Given the description of an element on the screen output the (x, y) to click on. 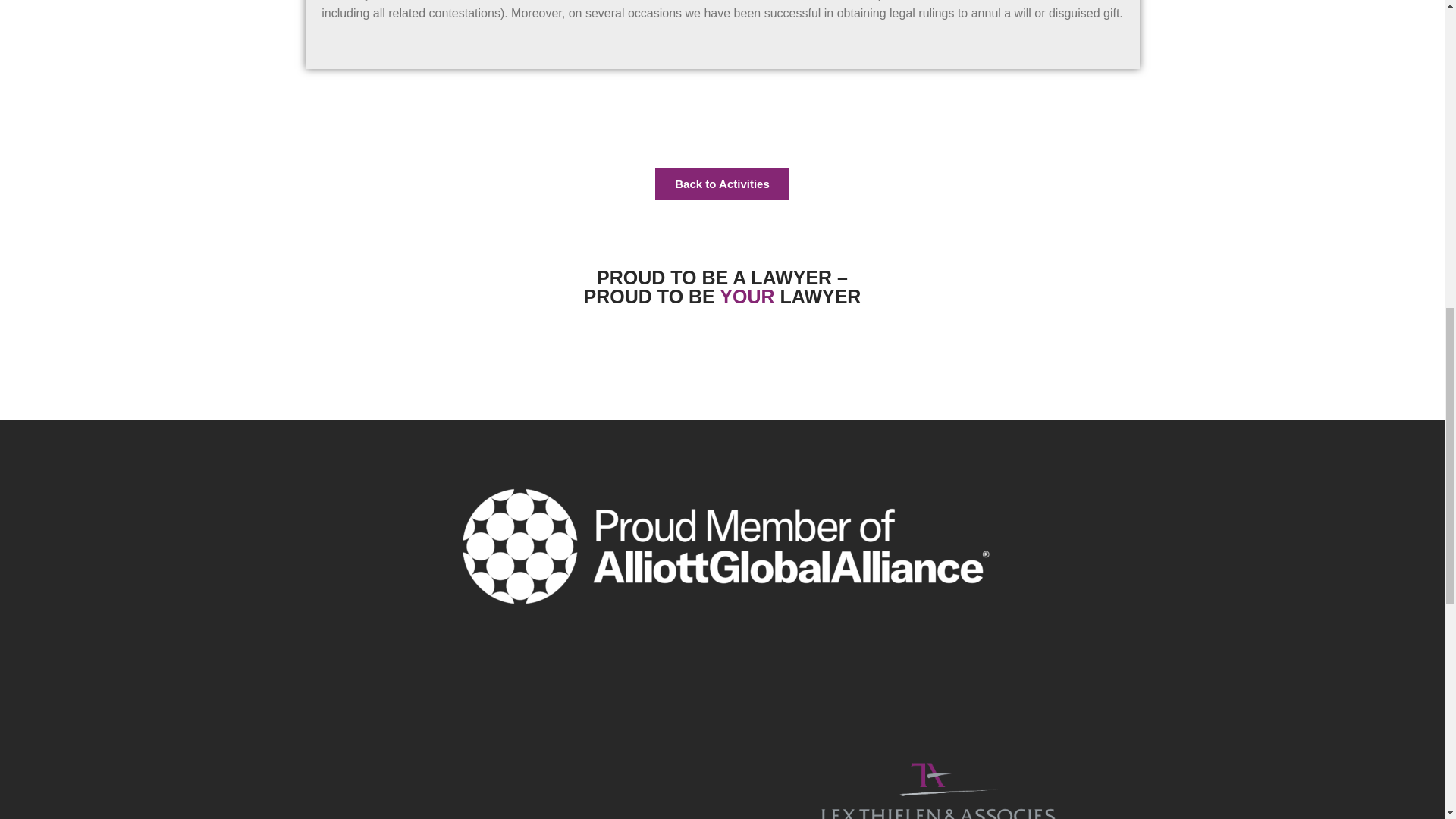
Back to Activities (722, 183)
